Given the description of an element on the screen output the (x, y) to click on. 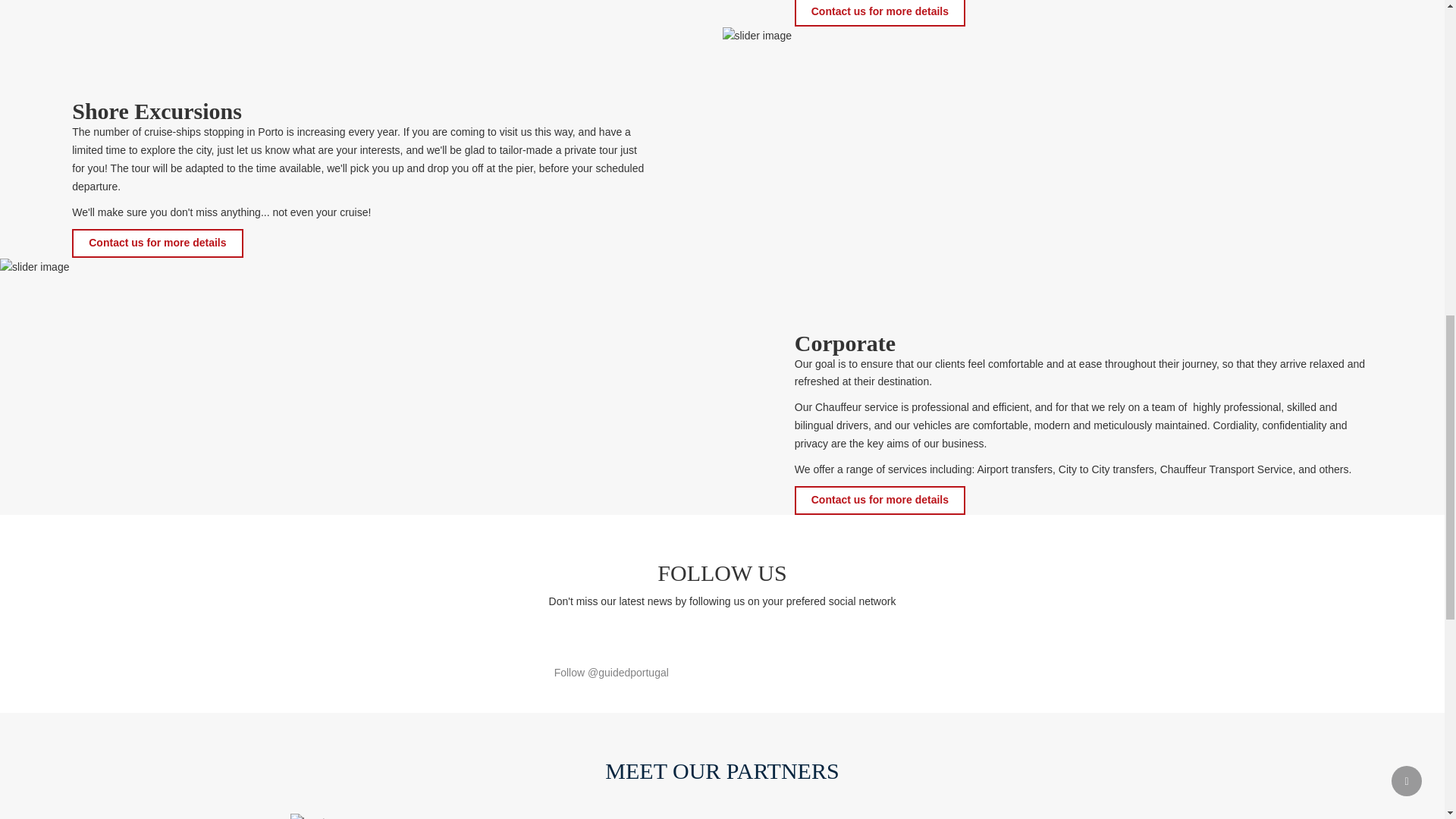
Contact us for more details (879, 500)
Contact us for more details (879, 13)
Contact us for more details (157, 243)
